Given the description of an element on the screen output the (x, y) to click on. 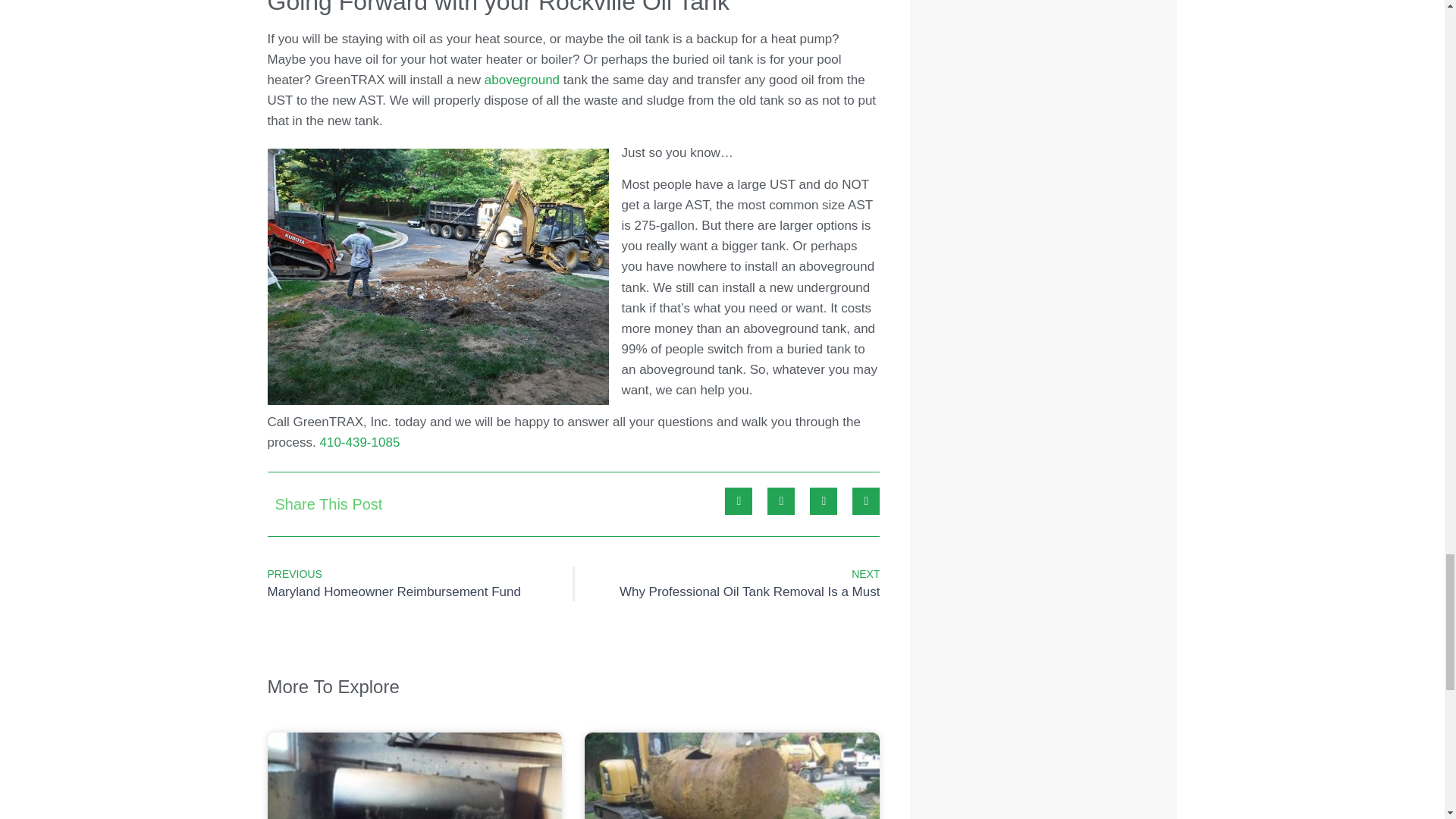
410-439-1085 (358, 441)
aboveground (419, 583)
